Given the description of an element on the screen output the (x, y) to click on. 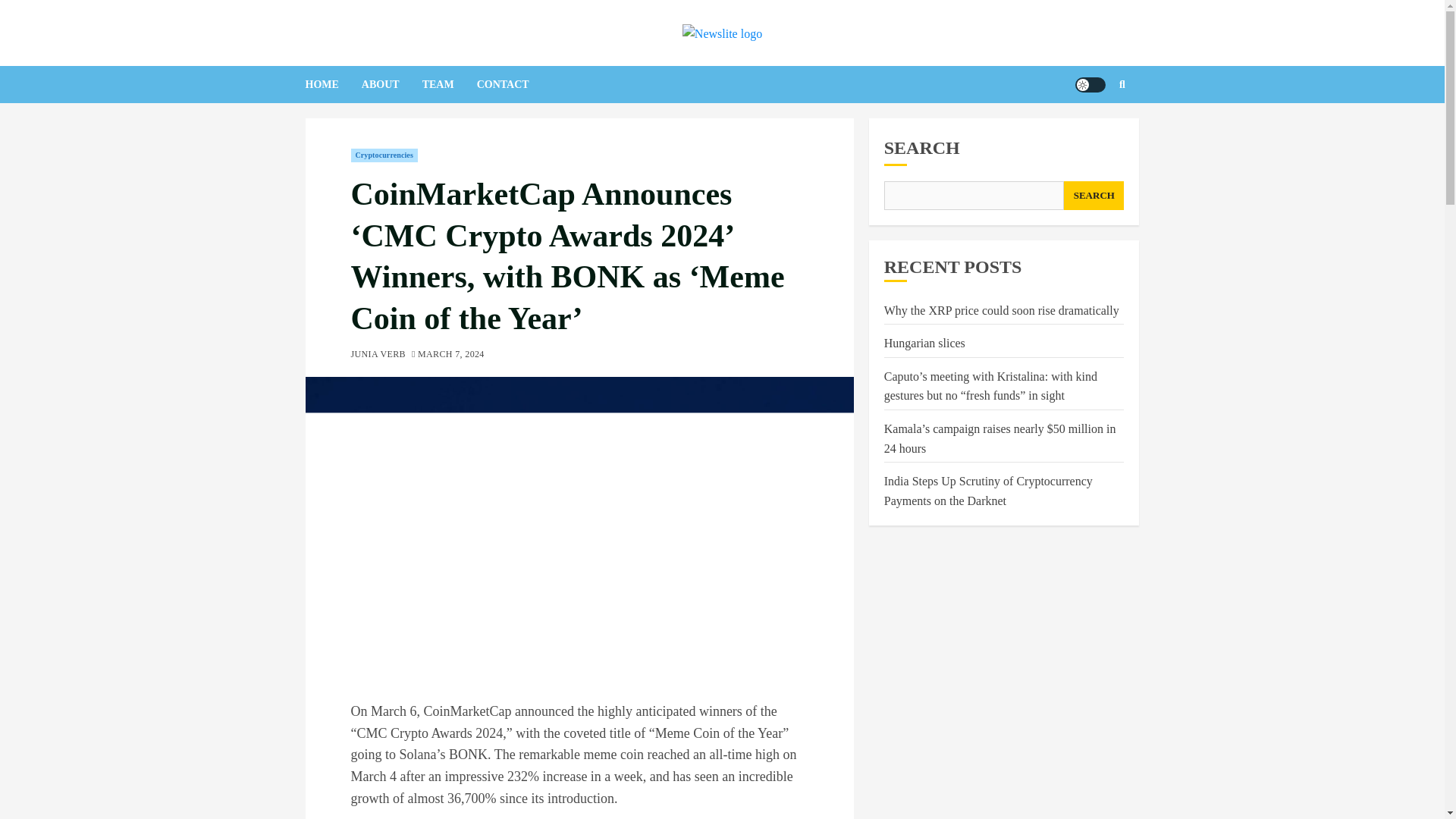
Search (1122, 84)
Cryptocurrencies (383, 155)
Why the XRP price could soon rise dramatically (1001, 310)
TEAM (449, 84)
SEARCH (1094, 194)
HOME (332, 84)
MARCH 7, 2024 (450, 354)
JUNIA VERB (377, 354)
Hungarian slices (924, 343)
CONTACT (514, 84)
Search (1092, 130)
ABOUT (391, 84)
